Given the description of an element on the screen output the (x, y) to click on. 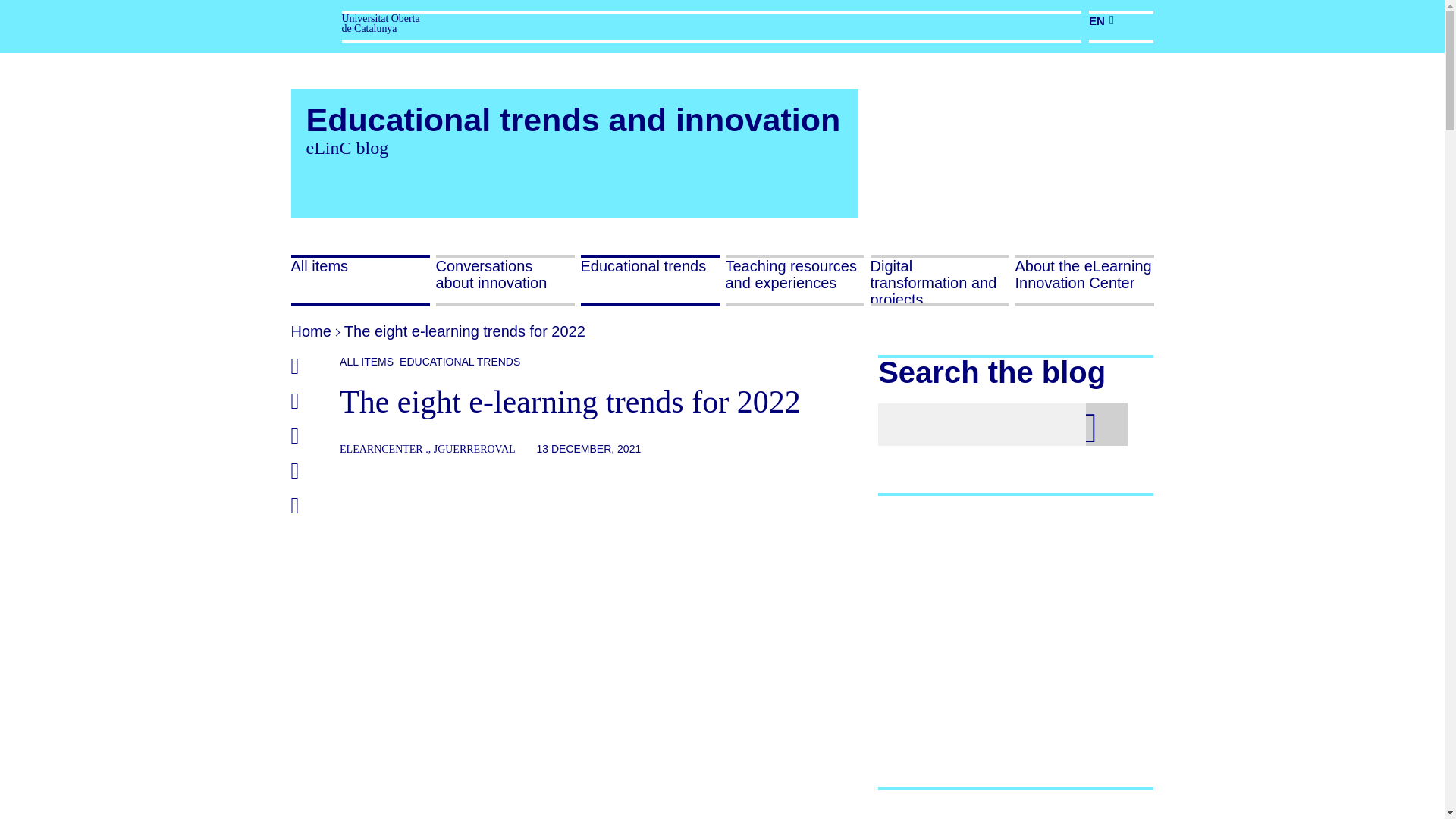
All items (360, 280)
Home (311, 330)
Digital transformation and projects (939, 280)
Conversations about innovation (504, 280)
Teaching resources and experiences (794, 280)
ELEARNCENTER . (383, 449)
EDUCATIONAL TRENDS (456, 361)
Digital transformation and projects (939, 280)
Posts by elearncenter . (383, 449)
ALL ITEMS (366, 361)
